Given the description of an element on the screen output the (x, y) to click on. 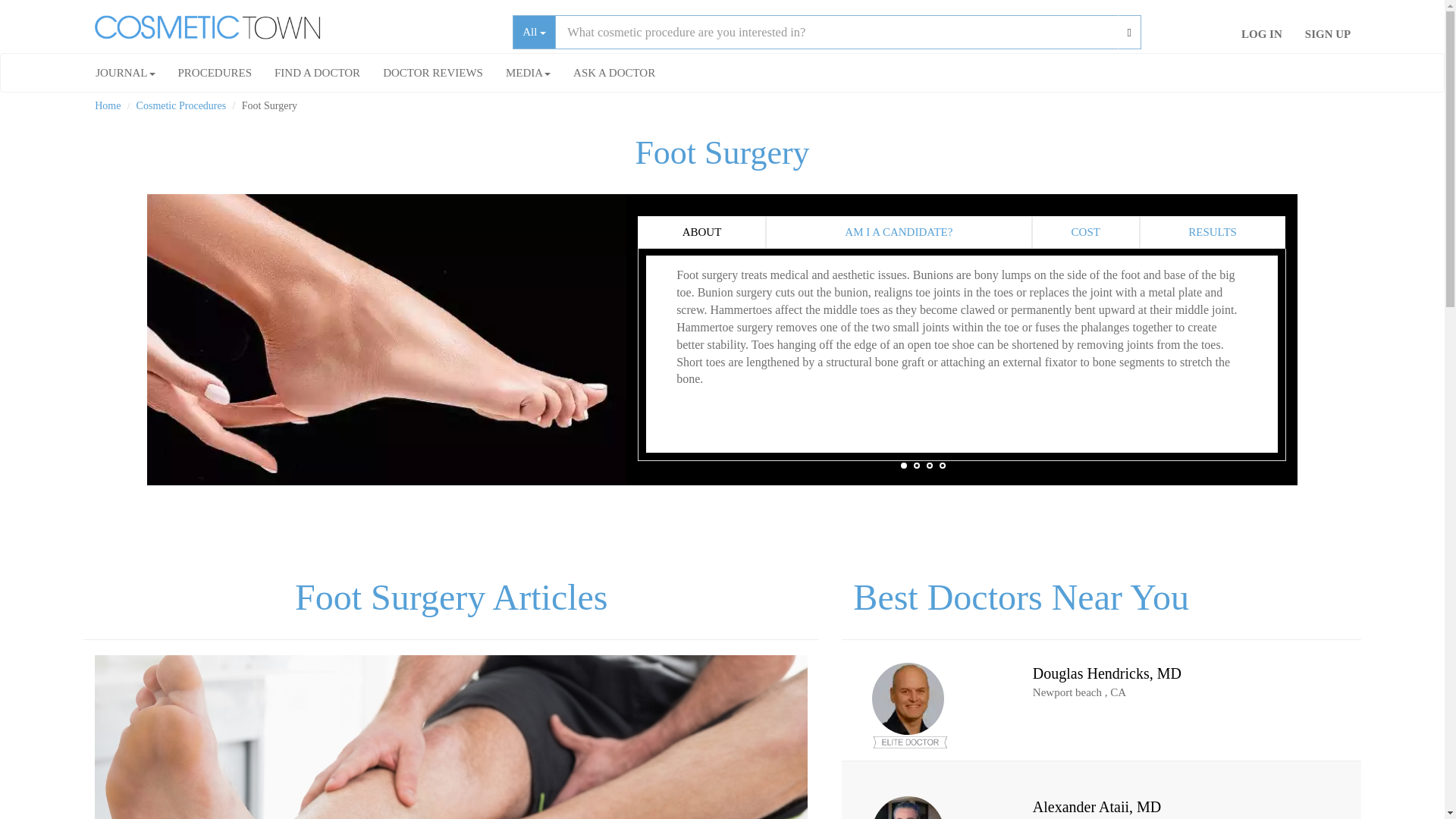
PROCEDURES (215, 72)
JOURNAL (124, 72)
LOG IN (1262, 34)
FIND A DOCTOR (317, 72)
MEDIA (528, 72)
SIGN UP (1327, 34)
DOCTOR REVIEWS (433, 72)
All (534, 32)
ASK A DOCTOR (614, 72)
